Given the description of an element on the screen output the (x, y) to click on. 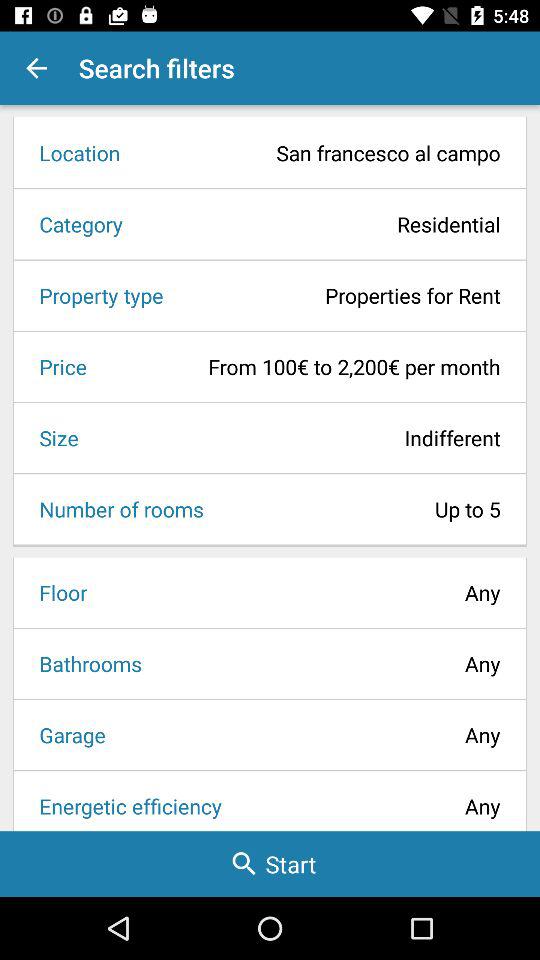
scroll to location icon (73, 152)
